Given the description of an element on the screen output the (x, y) to click on. 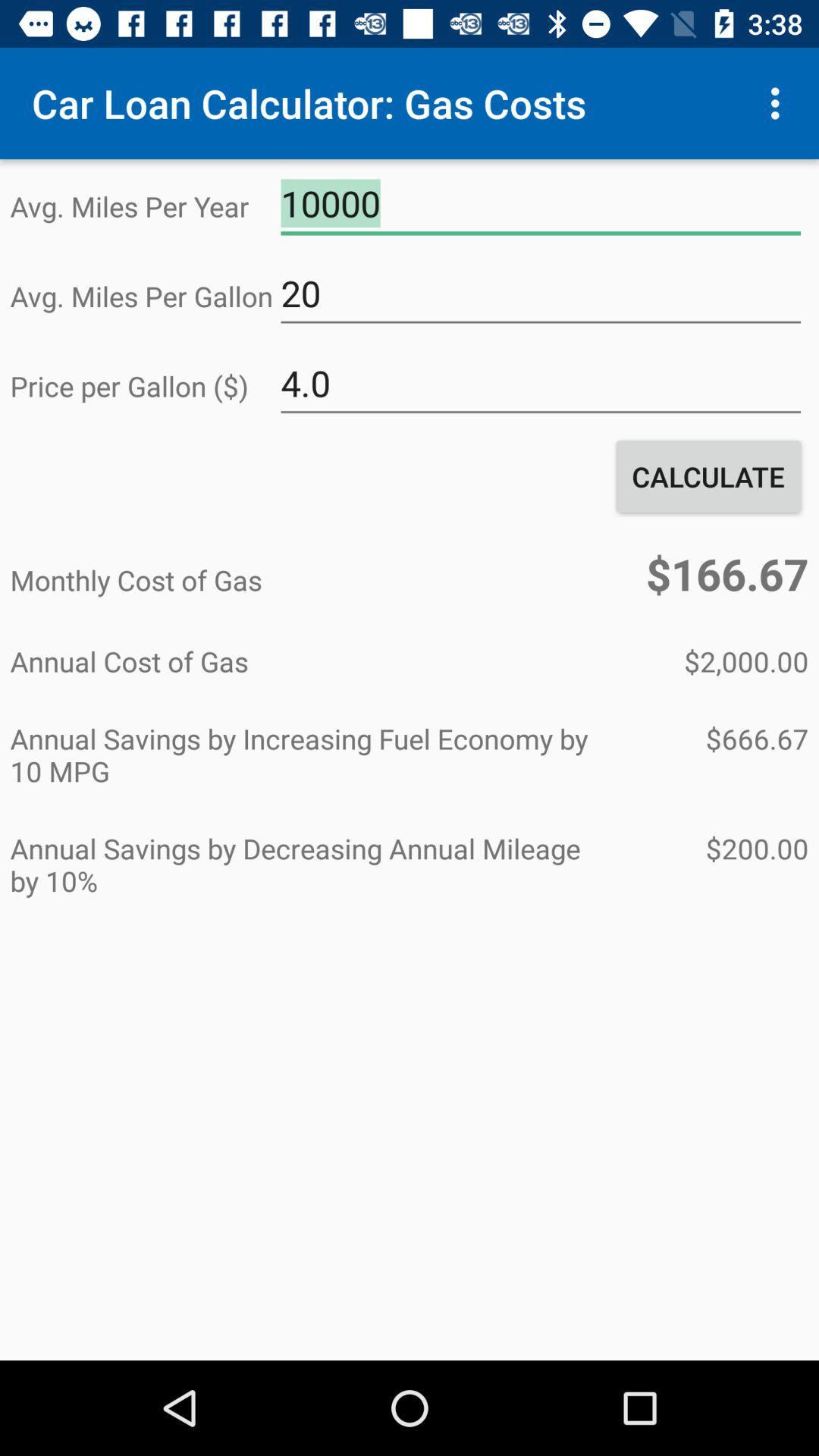
click item above 10000 (779, 103)
